Given the description of an element on the screen output the (x, y) to click on. 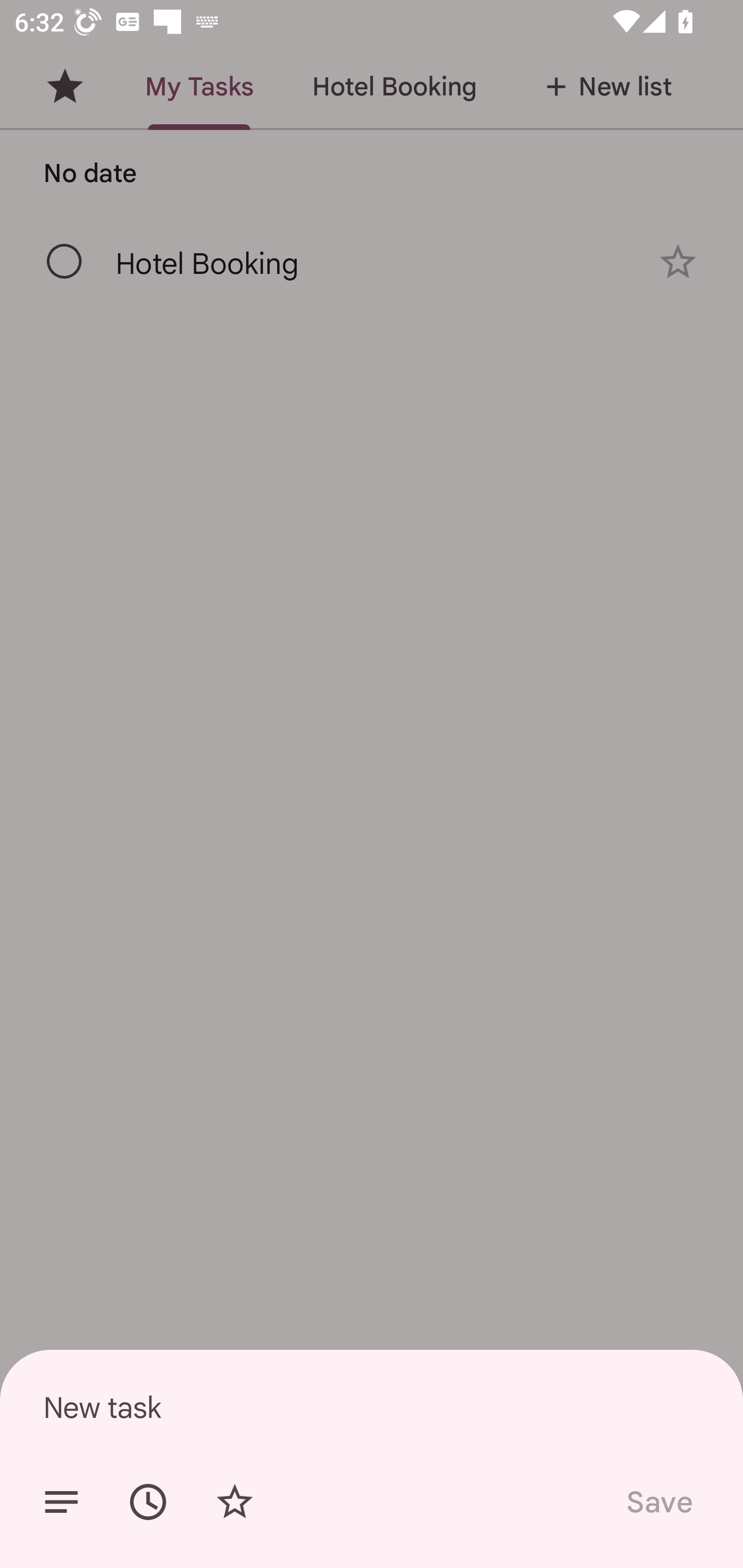
New task (371, 1407)
Save (659, 1501)
Add details (60, 1501)
Set date/time (147, 1501)
Add star (234, 1501)
